Given the description of an element on the screen output the (x, y) to click on. 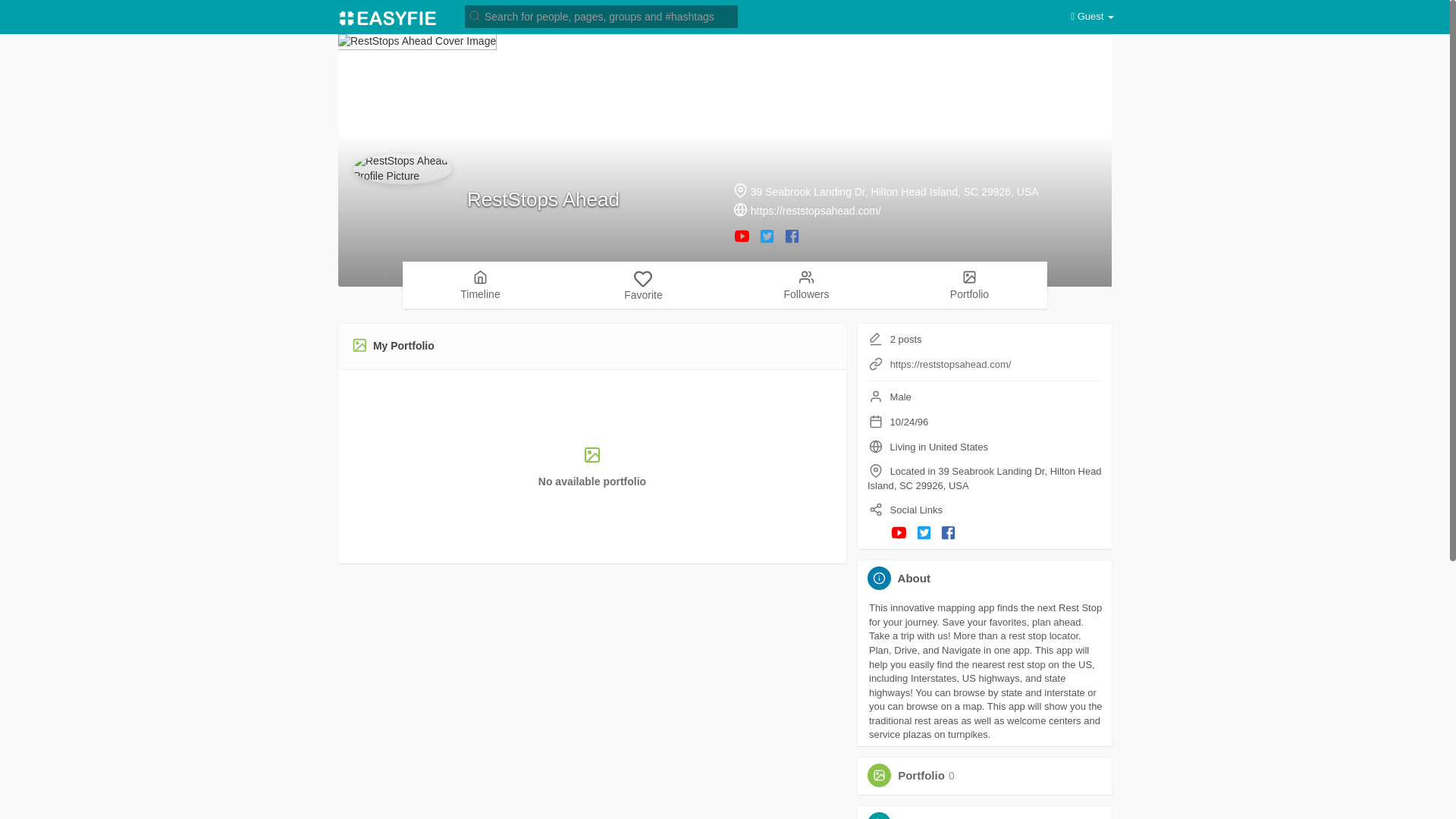
Guest (1091, 17)
Timeline (480, 284)
Portfolio (921, 775)
Favorite (920, 818)
Followers (806, 284)
Website (875, 364)
Favorite (643, 284)
Portfolio (968, 284)
RestStops Ahead (543, 199)
